Given the description of an element on the screen output the (x, y) to click on. 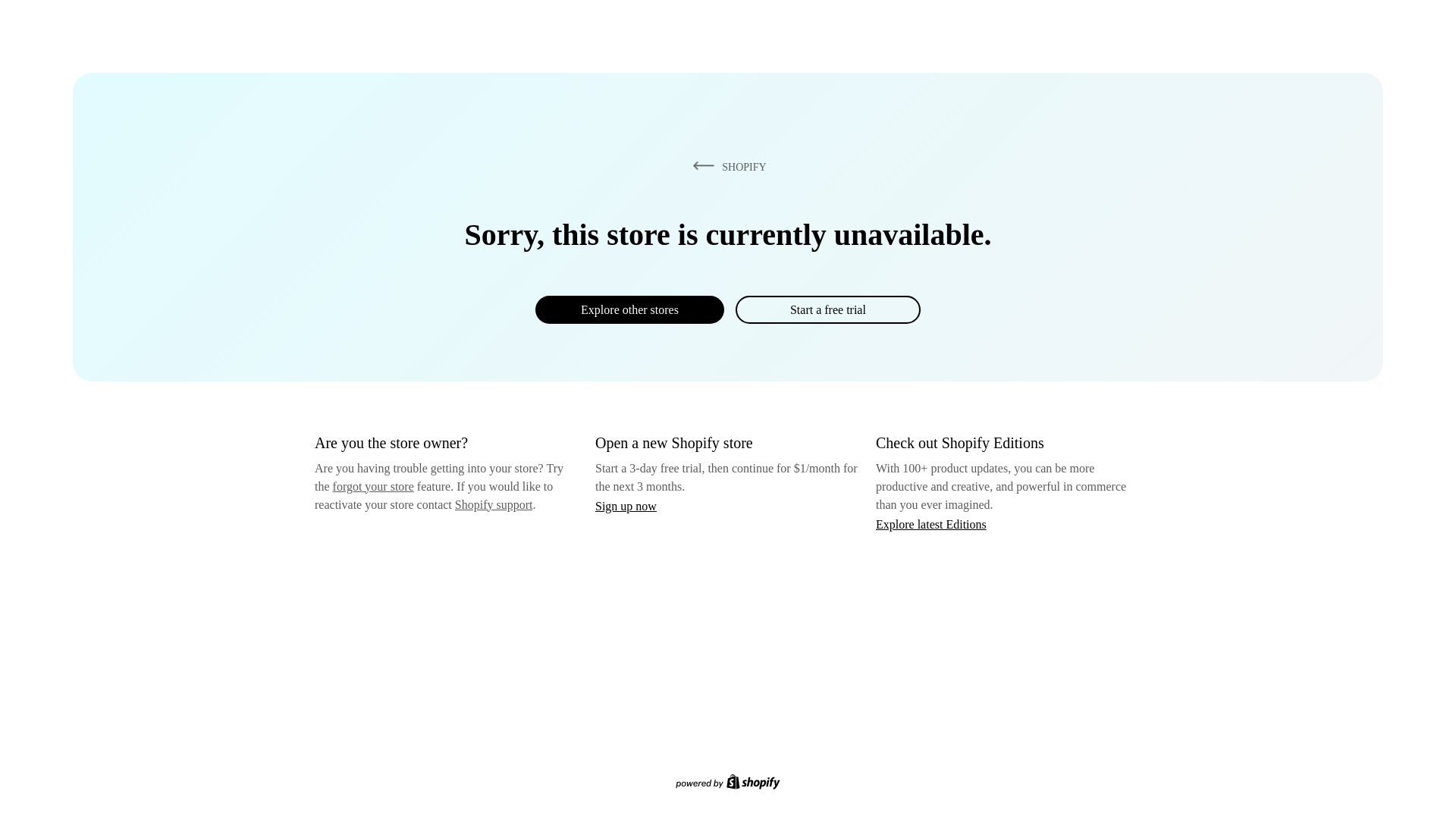
Explore latest Editions (931, 523)
forgot your store (373, 486)
Start a free trial (827, 309)
Sign up now (625, 505)
Shopify support (493, 504)
SHOPIFY (726, 166)
Explore other stores (629, 309)
